Given the description of an element on the screen output the (x, y) to click on. 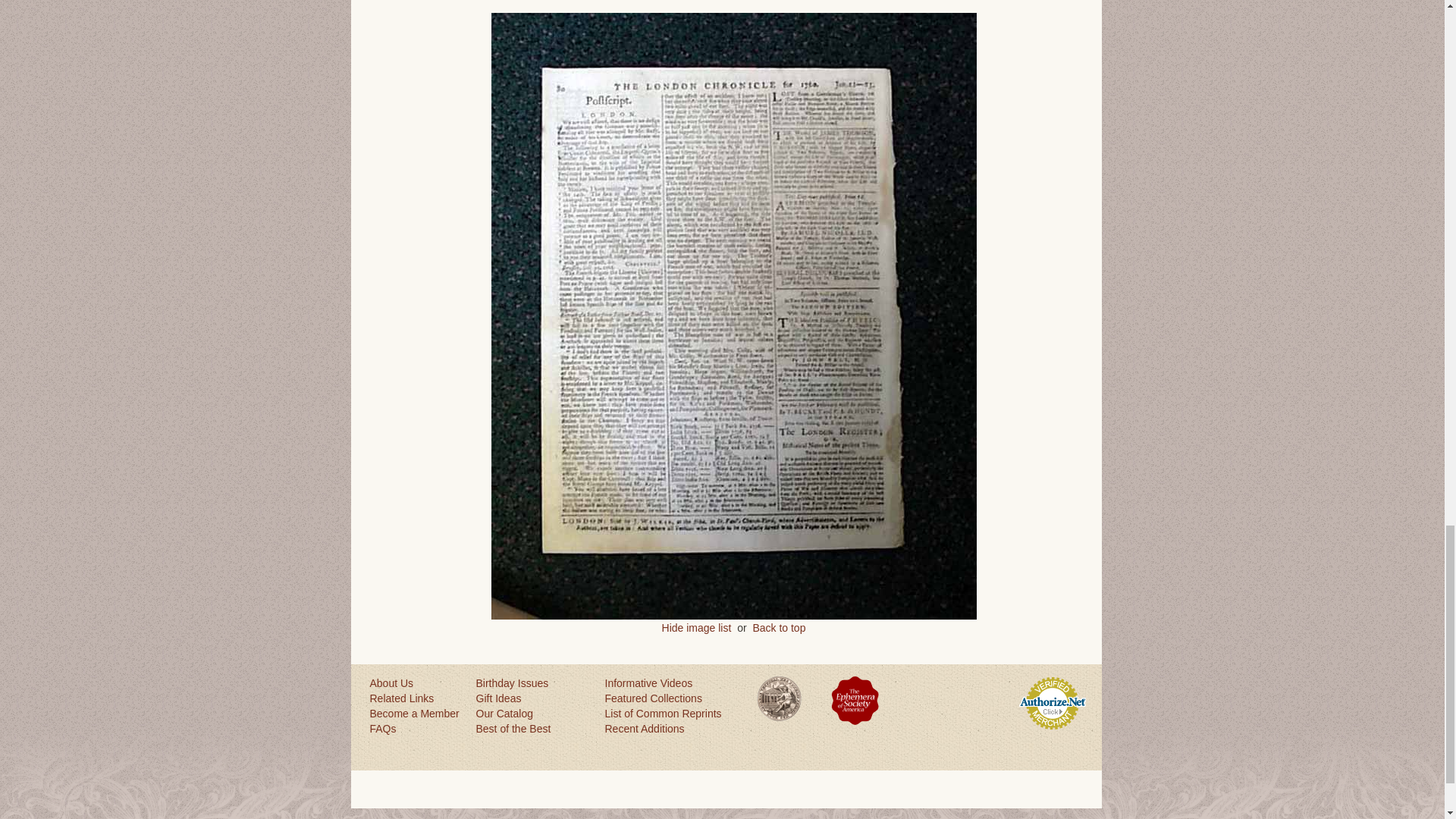
Informative Videos (669, 683)
Our Catalog (532, 713)
Back to top (778, 627)
About Us (415, 683)
About Us (415, 683)
Birthday Issues (532, 683)
Become a Member (415, 713)
Hide image list (697, 627)
Related Links (415, 698)
Gift Ideas (532, 698)
List of Common Reprints (669, 713)
Related Links (415, 698)
Best of the Best (532, 728)
Become a Member (415, 713)
Member, Ephemera Society of America (855, 699)
